Given the description of an element on the screen output the (x, y) to click on. 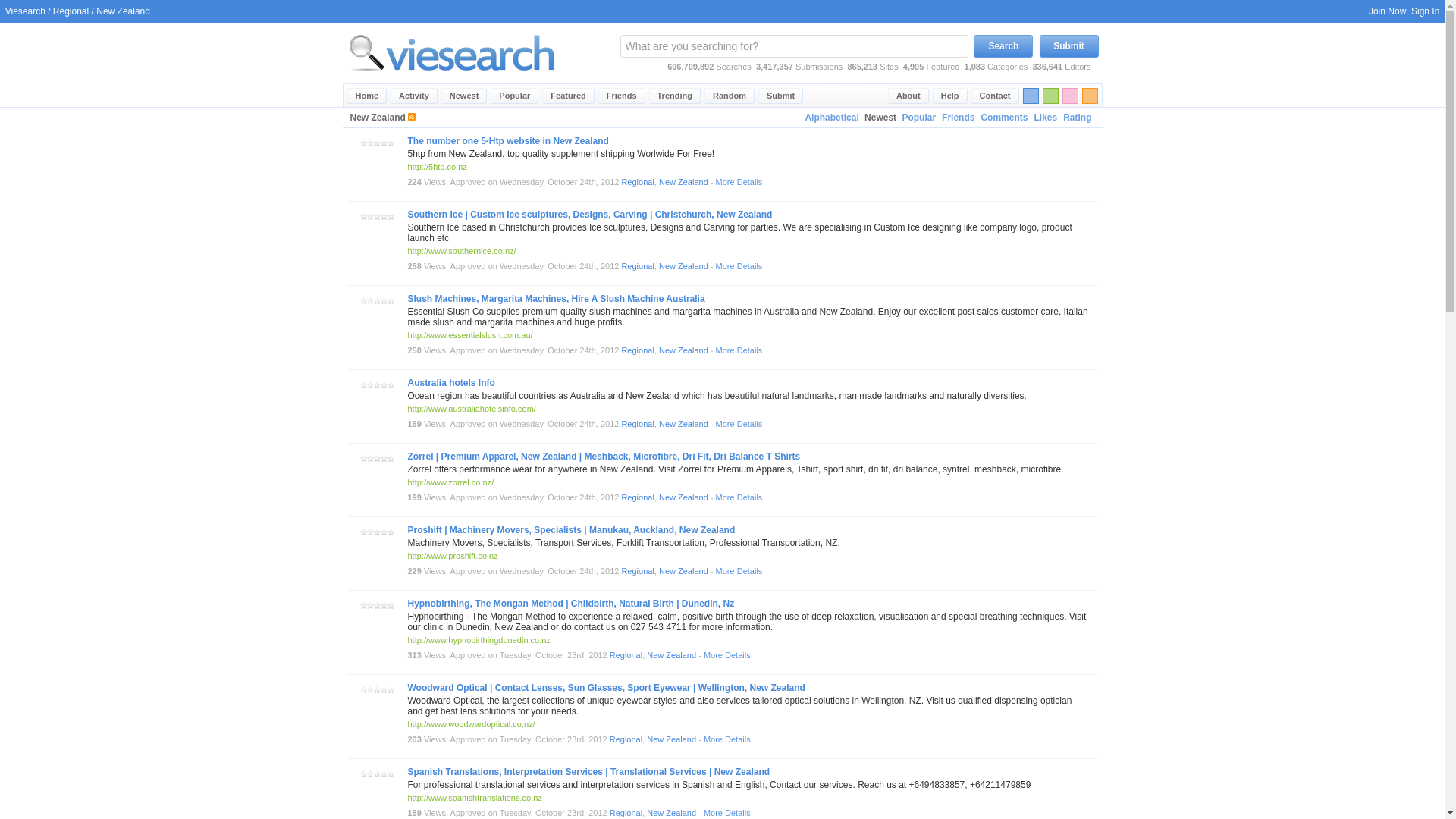
New Zealand (683, 181)
About (908, 95)
Friends (621, 95)
The top 50 most viewed sites in Viesearch (514, 95)
Viesearch (367, 95)
Regional (637, 349)
Viesearch - Human Powered Search Engine (452, 80)
Recent social activity (414, 95)
More Details (739, 266)
The top 50 longest featured sites in Viesearch (567, 95)
